Given the description of an element on the screen output the (x, y) to click on. 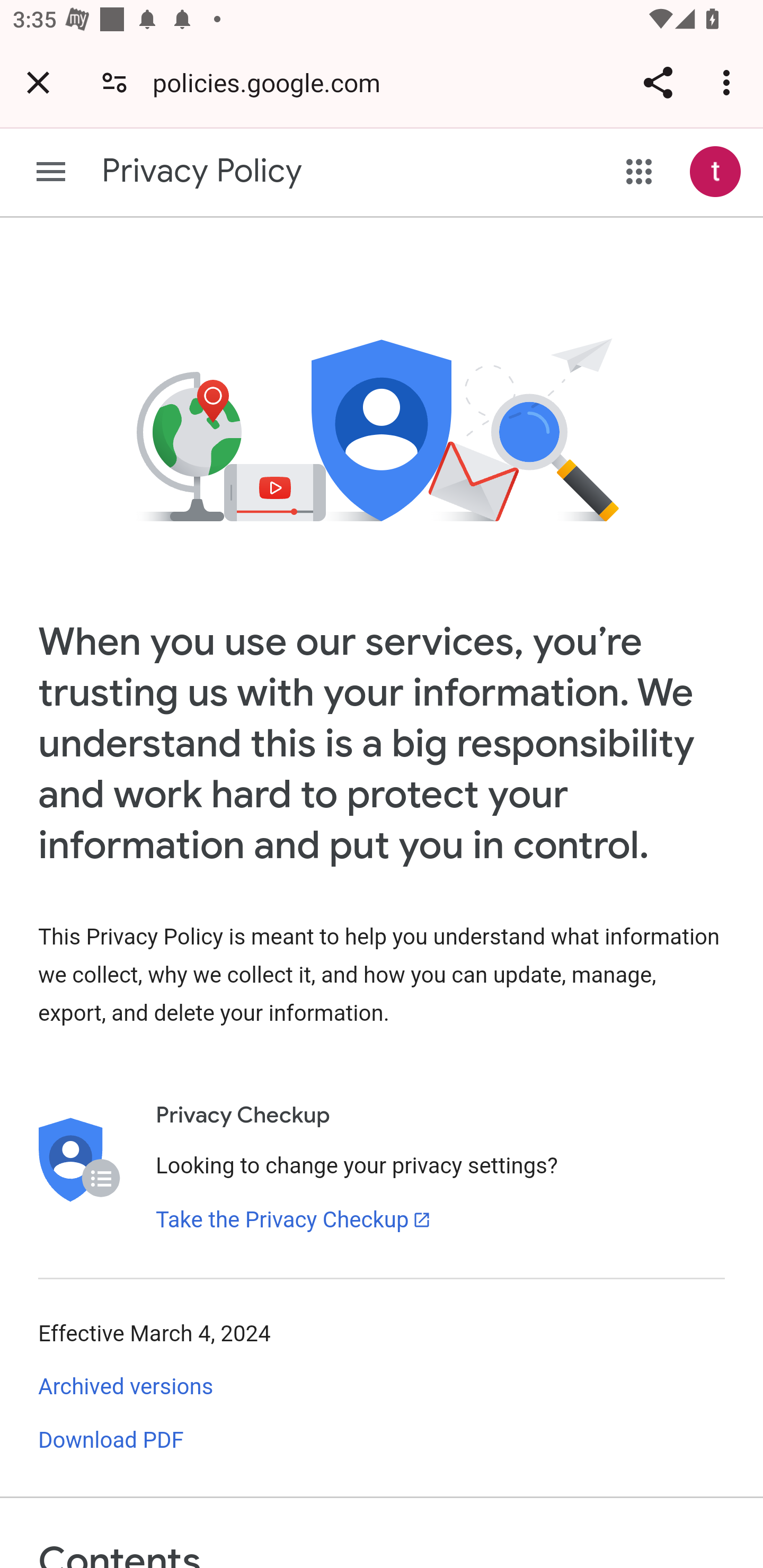
Close tab (38, 82)
Share (657, 82)
Customize and control Google Chrome (729, 82)
Connection is secure (114, 81)
policies.google.com (272, 81)
Main menu (50, 171)
Google apps (638, 171)
Take the Privacy Checkup (293, 1218)
Archived versions (126, 1387)
Download PDF (111, 1439)
